Given the description of an element on the screen output the (x, y) to click on. 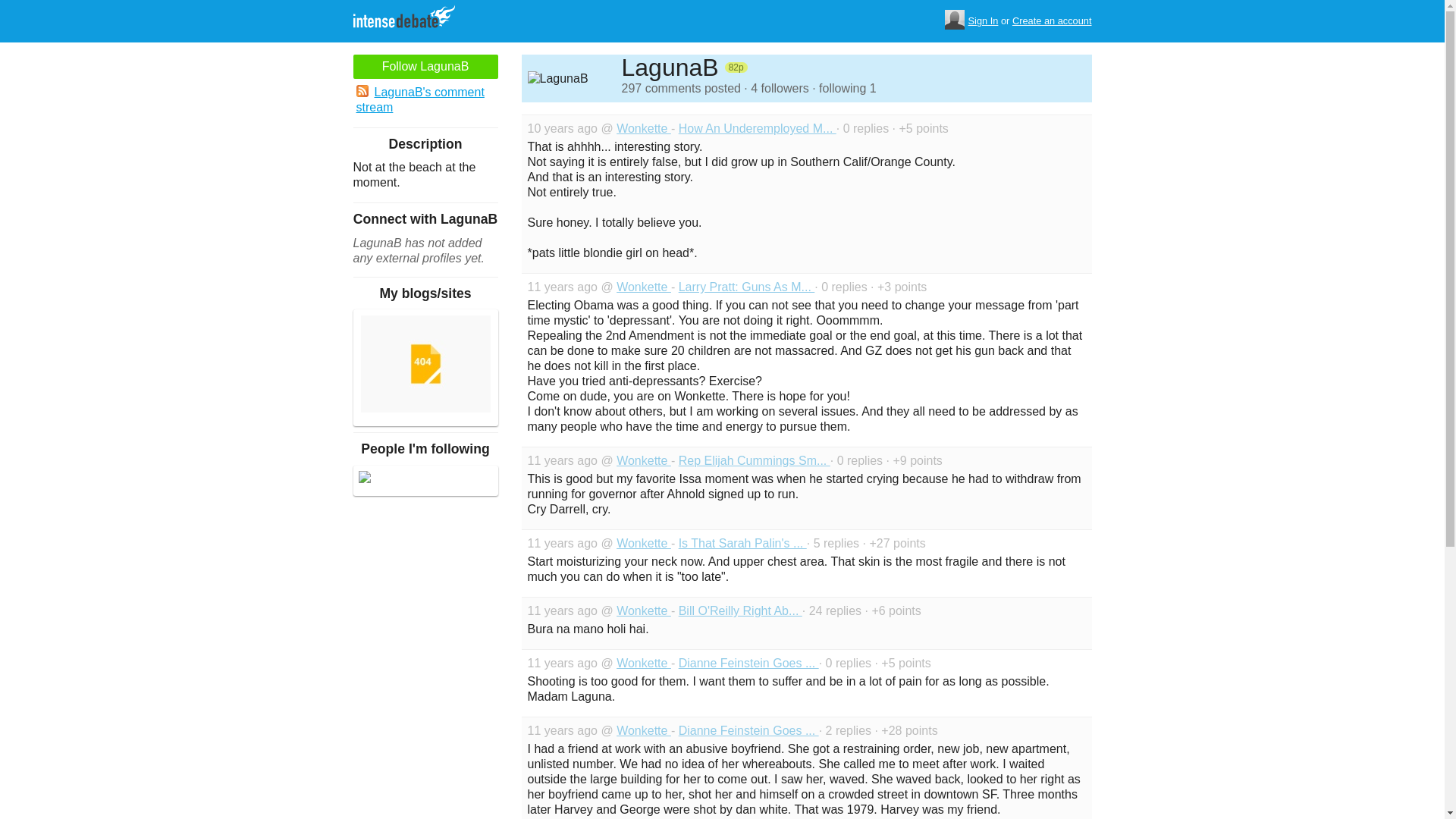
Dianne Feinstein Goes ... (748, 662)
Wonkette (643, 662)
Wonkette (643, 610)
Follow LagunaB (425, 66)
Larry Pratt: Guns As M... (746, 286)
How An Underemployed M... (756, 128)
Wonkette (643, 128)
Bill O'Reilly Right Ab... (740, 610)
Wonkette (643, 730)
IntenseDebate Comment System (410, 18)
